Given the description of an element on the screen output the (x, y) to click on. 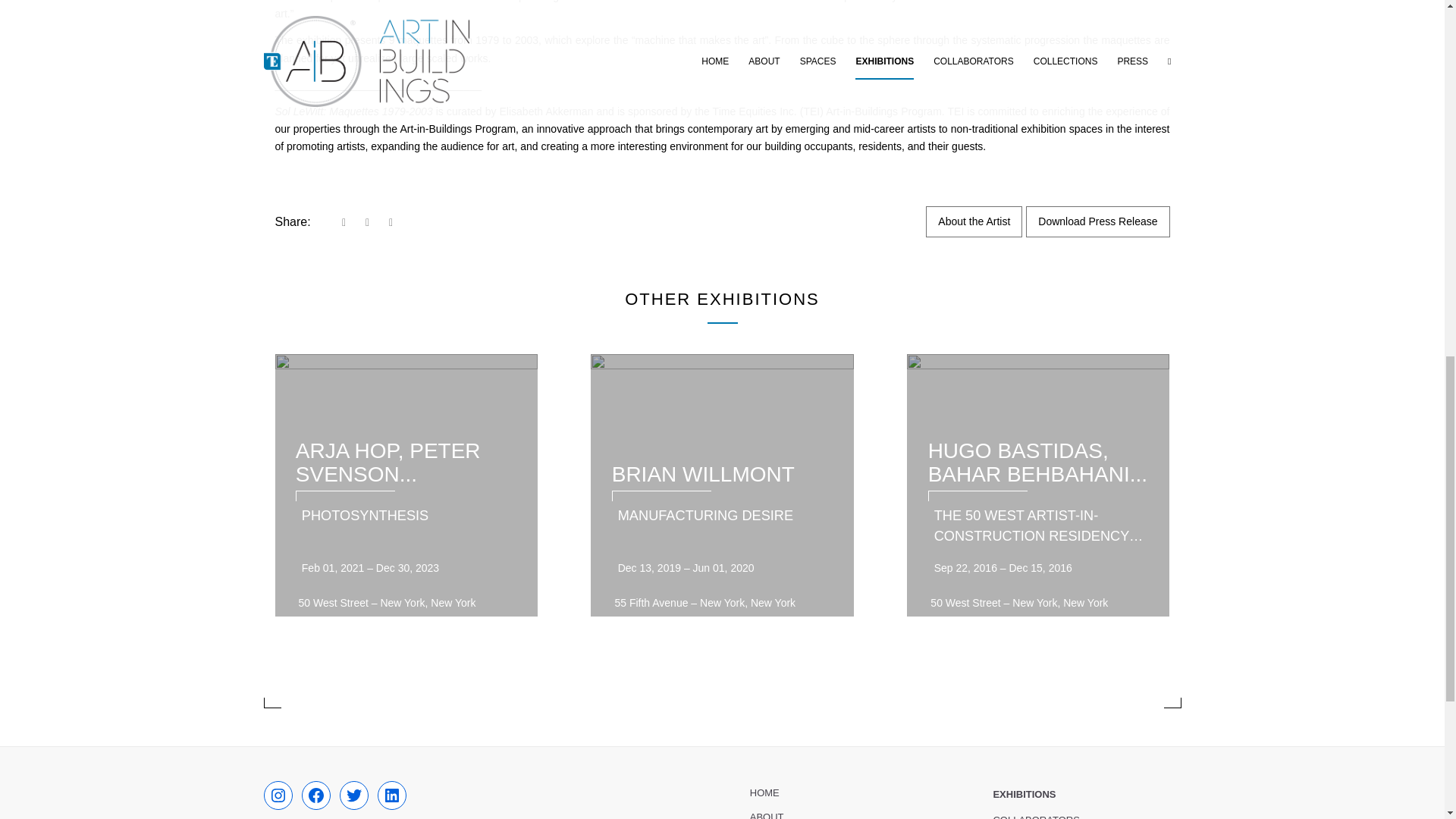
Download Press Release (1097, 221)
FACEBOOK (315, 795)
EXHIBITIONS (1086, 794)
TWITTER (352, 795)
INSTAGRAM (277, 795)
COLLABORATORS (1086, 813)
LINKEDIN (390, 795)
HOME (843, 793)
About the Artist (974, 221)
ABOUT (843, 812)
